Given the description of an element on the screen output the (x, y) to click on. 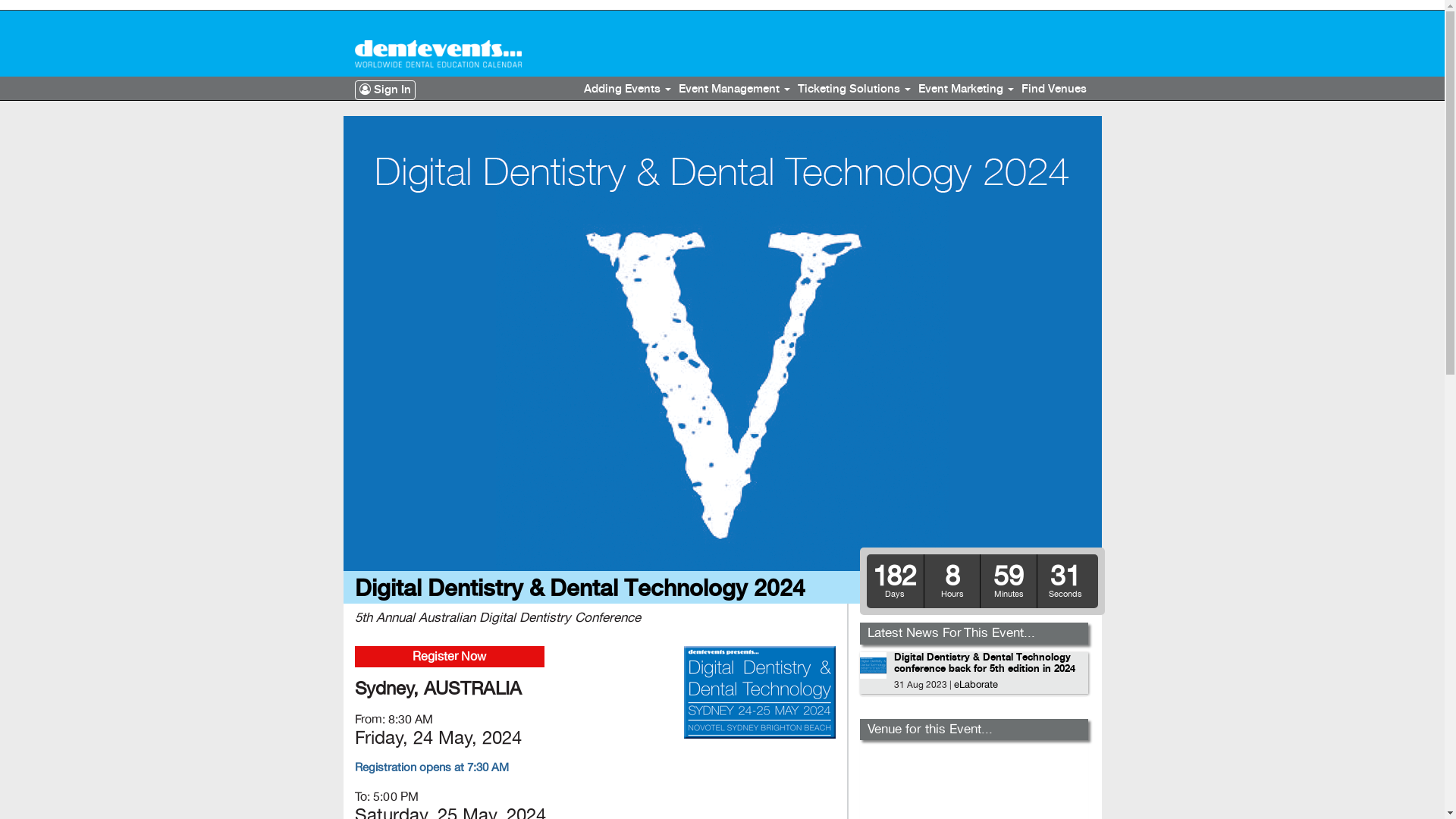
Latest News For This Event... Element type: text (951, 632)
Event Management Element type: text (733, 89)
Event Marketing Element type: text (965, 89)
Find Venues Element type: text (1053, 89)
 Sign In Element type: text (384, 90)
Adding Events Element type: text (626, 89)
Ticketing Solutions Element type: text (853, 89)
Venue for this Event... Element type: text (929, 729)
Register Now Element type: text (449, 656)
